Given the description of an element on the screen output the (x, y) to click on. 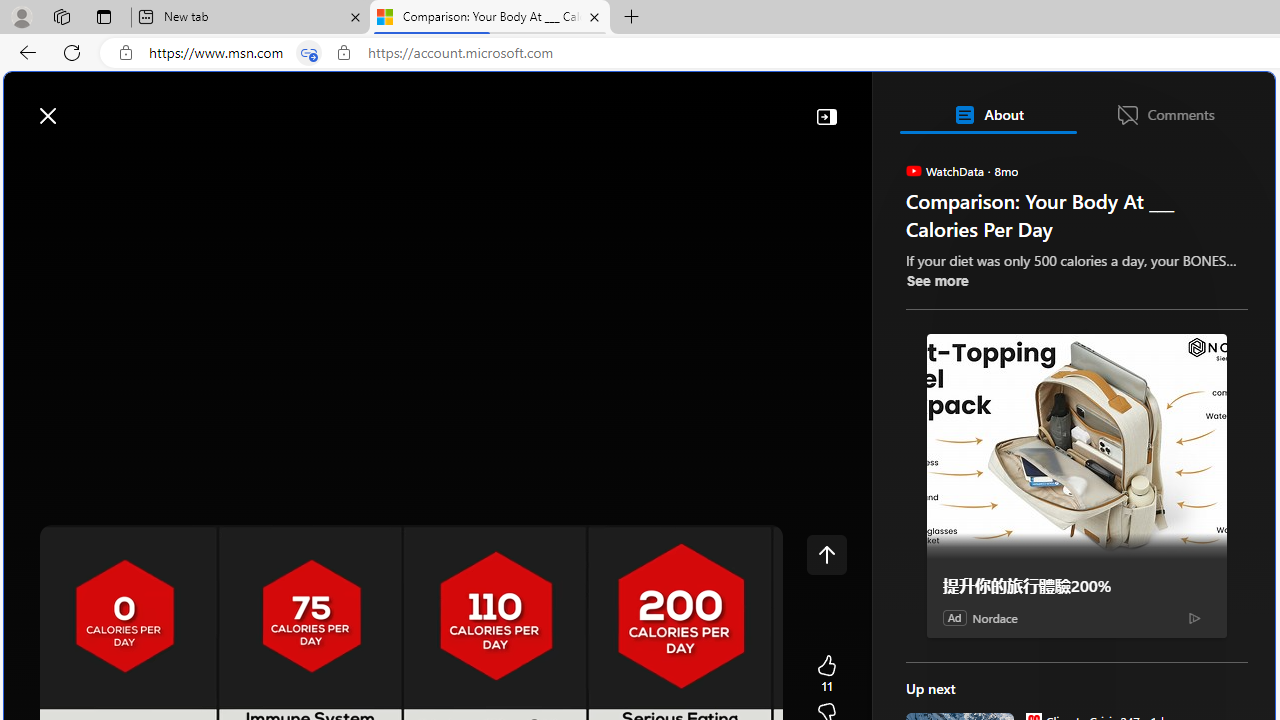
View site information (343, 53)
Open settings (1230, 105)
Tabs in split screen (308, 53)
Open Copilot (995, 105)
Skip to content (86, 105)
Open navigation menu (29, 162)
Ad (954, 617)
